Given the description of an element on the screen output the (x, y) to click on. 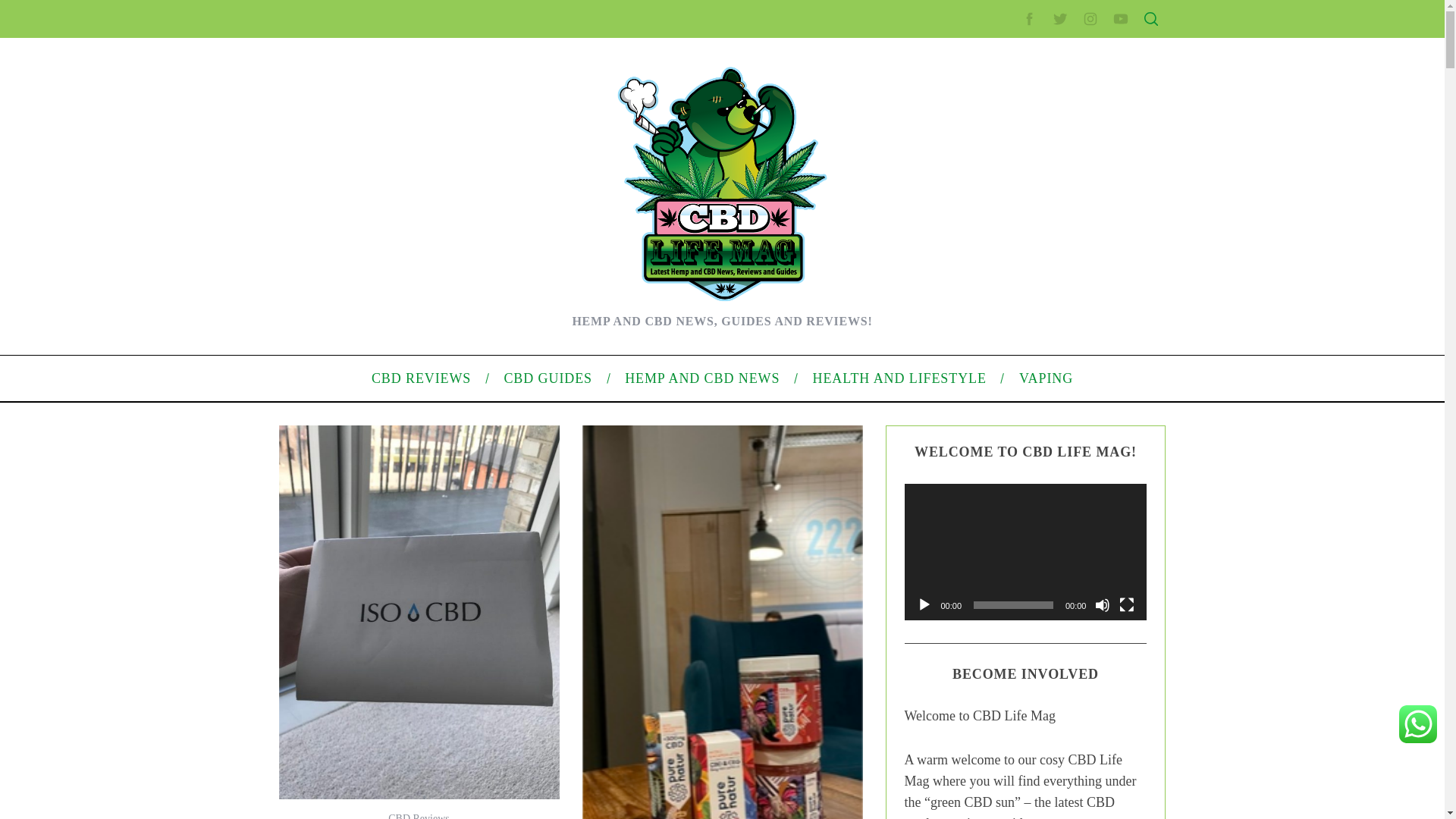
Log in (980, 588)
Am Joy (339, 514)
Blog (976, 510)
Joy Online (346, 467)
Search (1050, 85)
Search (1050, 85)
Books (336, 418)
Customer Reviews (365, 322)
Latest Article (996, 172)
CUPCAKEDELIGHTS.CO.UK (433, 28)
About The Author (362, 370)
Terms of Use (996, 330)
Privacy Policy (999, 306)
Skip to content (34, 9)
